Given the description of an element on the screen output the (x, y) to click on. 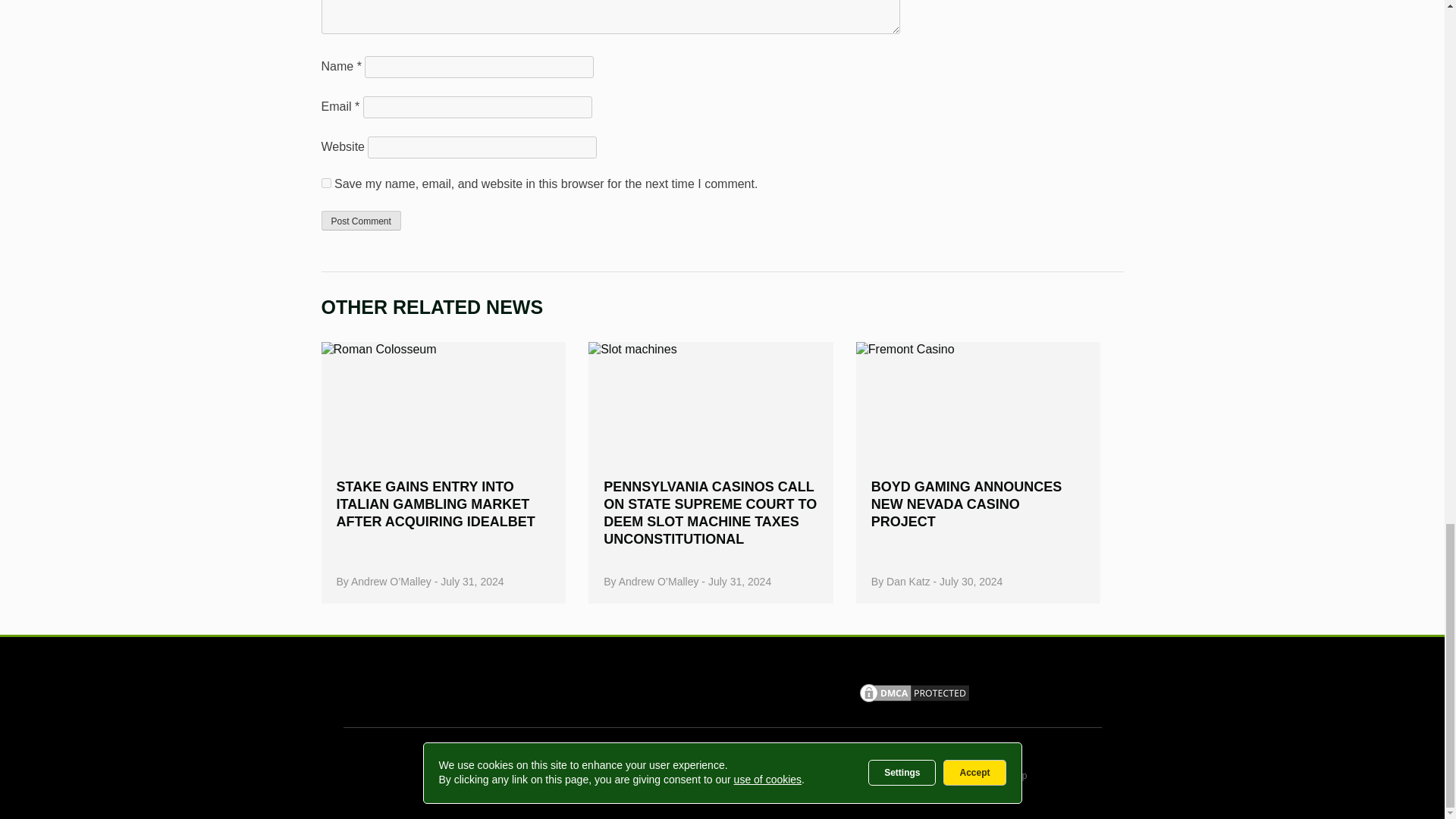
Post Comment (361, 220)
Gambleaware (661, 692)
Ecogra (772, 692)
yes (326, 183)
Gamcare (524, 693)
DMCA.com Protection Status (914, 699)
Post Comment (361, 220)
